Given the description of an element on the screen output the (x, y) to click on. 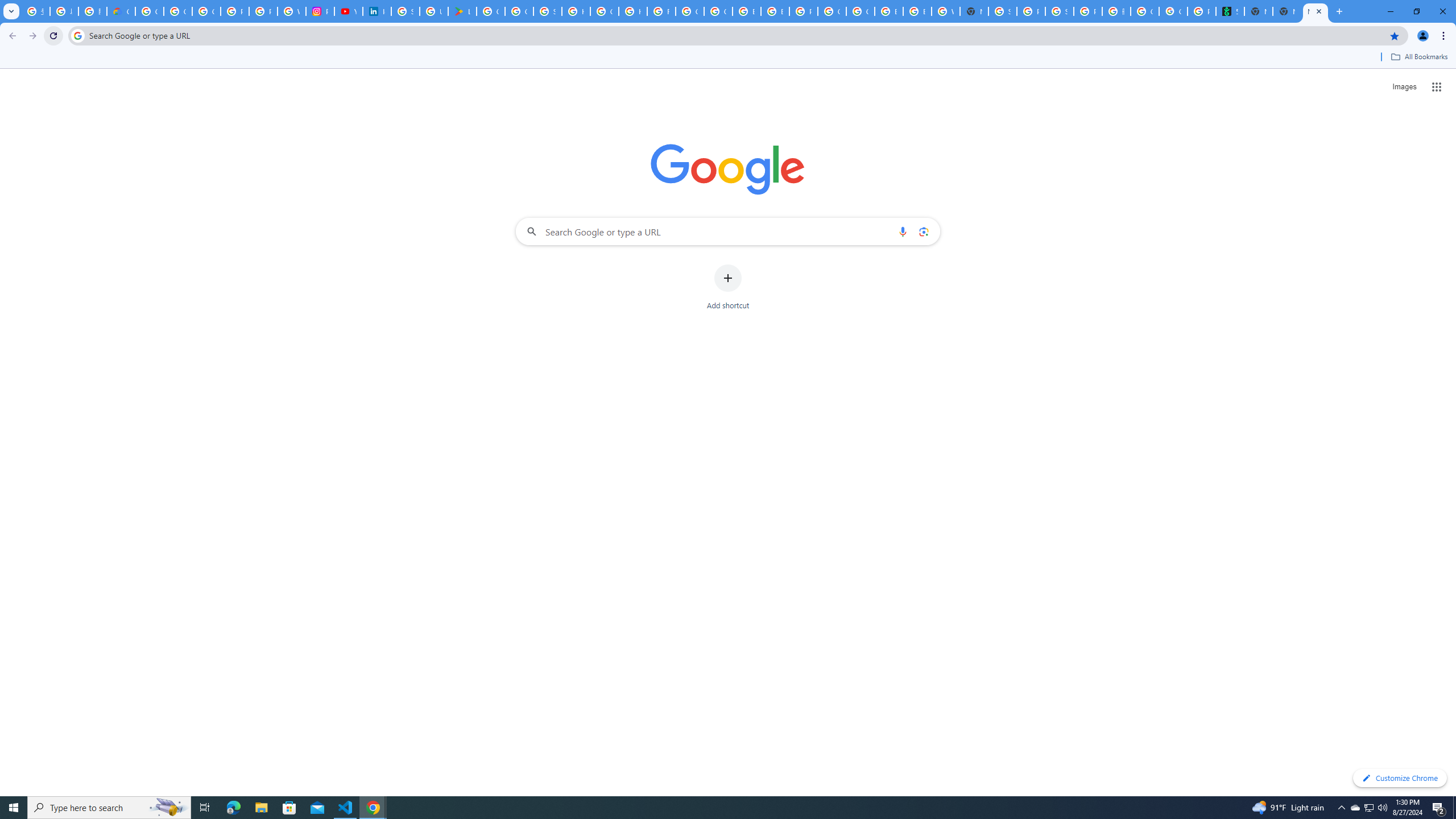
Add shortcut (727, 287)
Identity verification via Persona | LinkedIn Help (377, 11)
Customize Chrome (1399, 778)
Search for Images  (1403, 87)
